Given the description of an element on the screen output the (x, y) to click on. 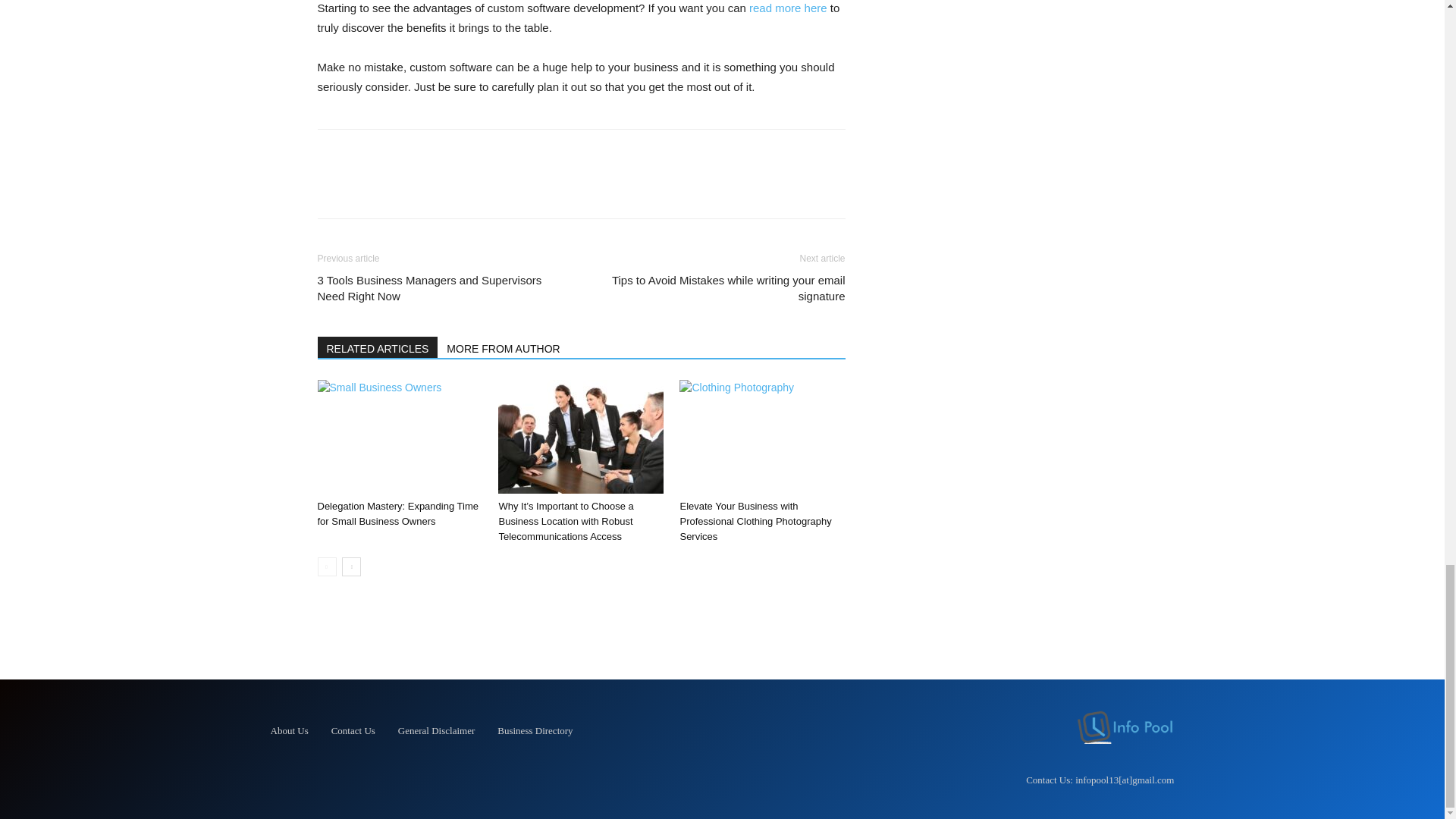
bottomFacebookLike (430, 153)
